Given the description of an element on the screen output the (x, y) to click on. 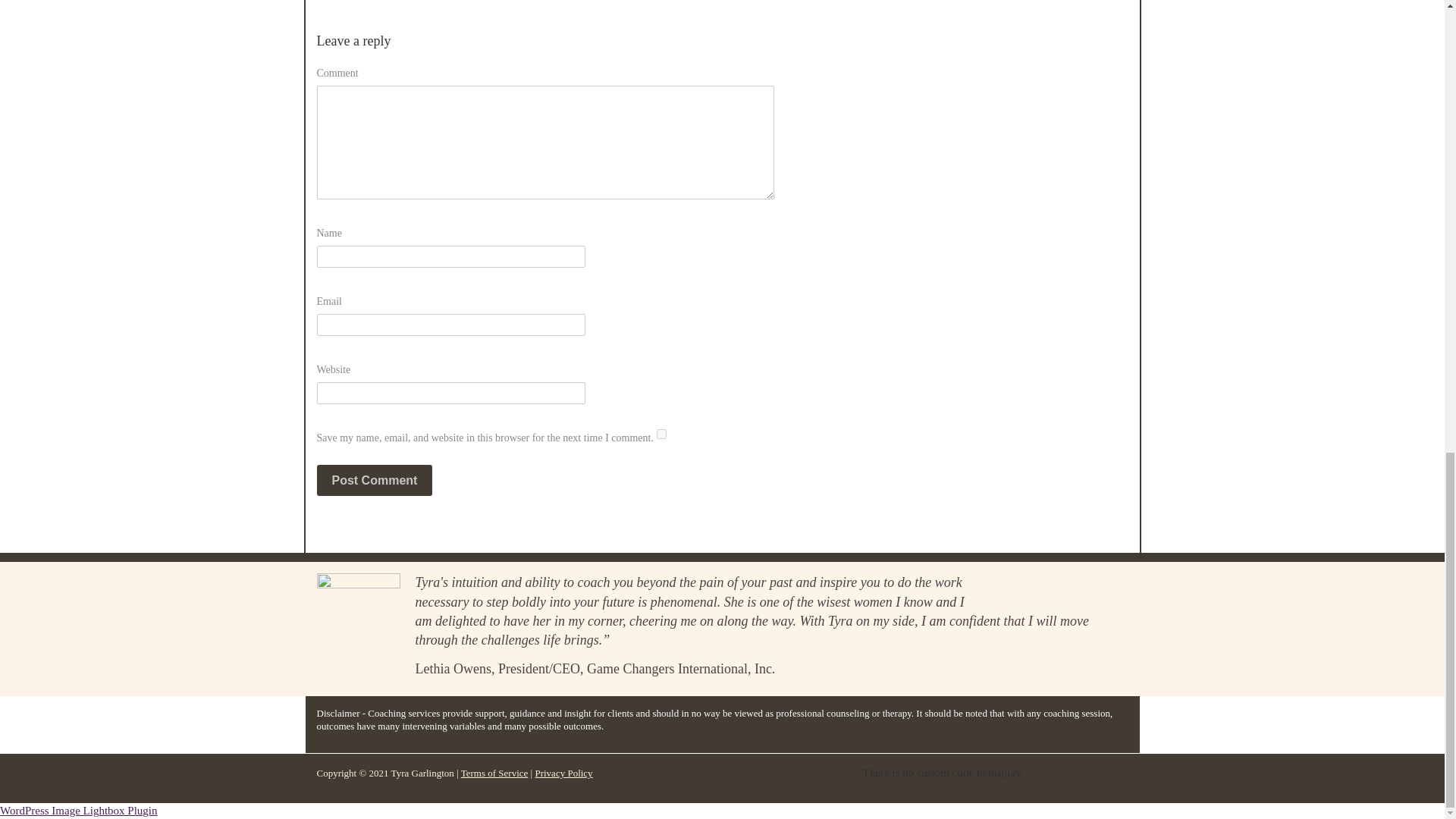
Post Comment (374, 480)
yes (661, 433)
WordPress Image Lightbox Plugin (78, 810)
Post Comment (374, 480)
